Given the description of an element on the screen output the (x, y) to click on. 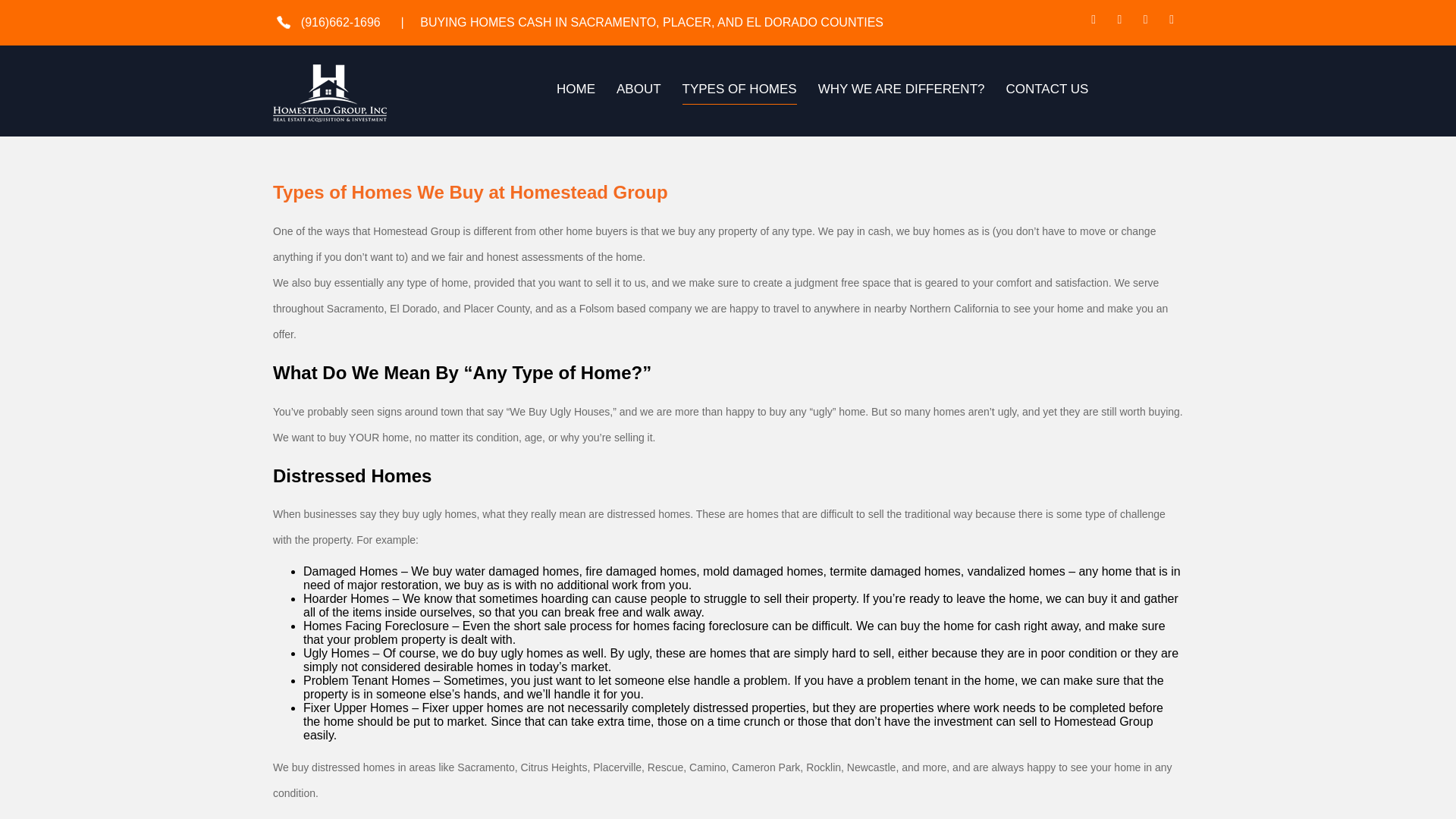
HOME (575, 92)
CONTACT US (1046, 92)
ABOUT (638, 92)
TYPES OF HOMES (739, 92)
Call Us (337, 21)
WHY WE ARE DIFFERENT? (901, 92)
